Given the description of an element on the screen output the (x, y) to click on. 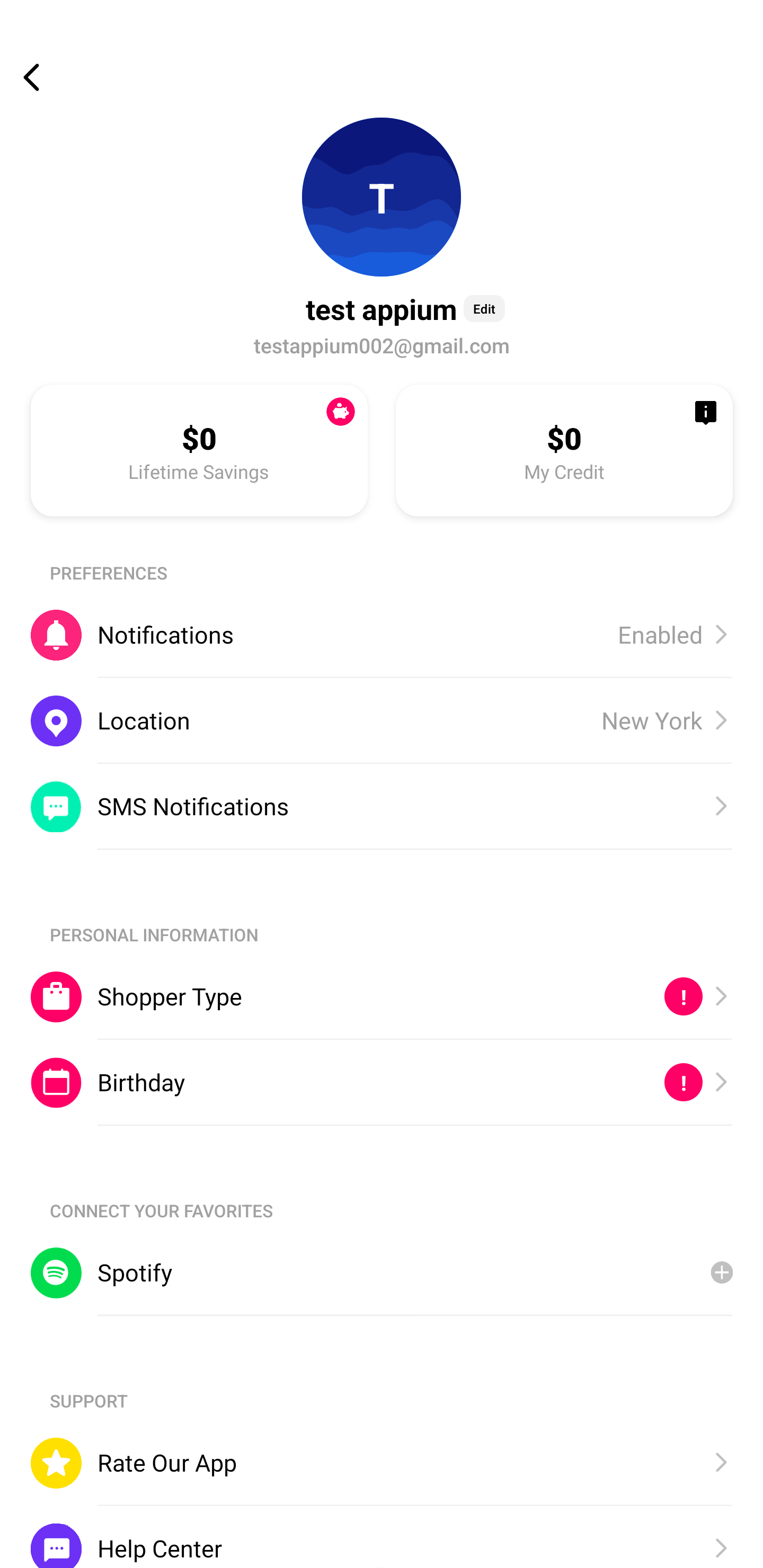
T (381, 196)
Edit (484, 307)
$0, Lifetime Savings $0 Lifetime Savings (198, 449)
$0, My Credit $0 My Credit (563, 449)
Location, New York Location New York (381, 720)
SMS Notifications,    SMS Notifications    (381, 806)
Shopper Type,   , ! Shopper Type    ! (381, 996)
Birthday,   , ! Birthday    ! (381, 1082)
Spotify,    Spotify    (381, 1272)
Rate Our App,    Rate Our App    (381, 1462)
Help Center,    Help Center    (381, 1536)
